Given the description of an element on the screen output the (x, y) to click on. 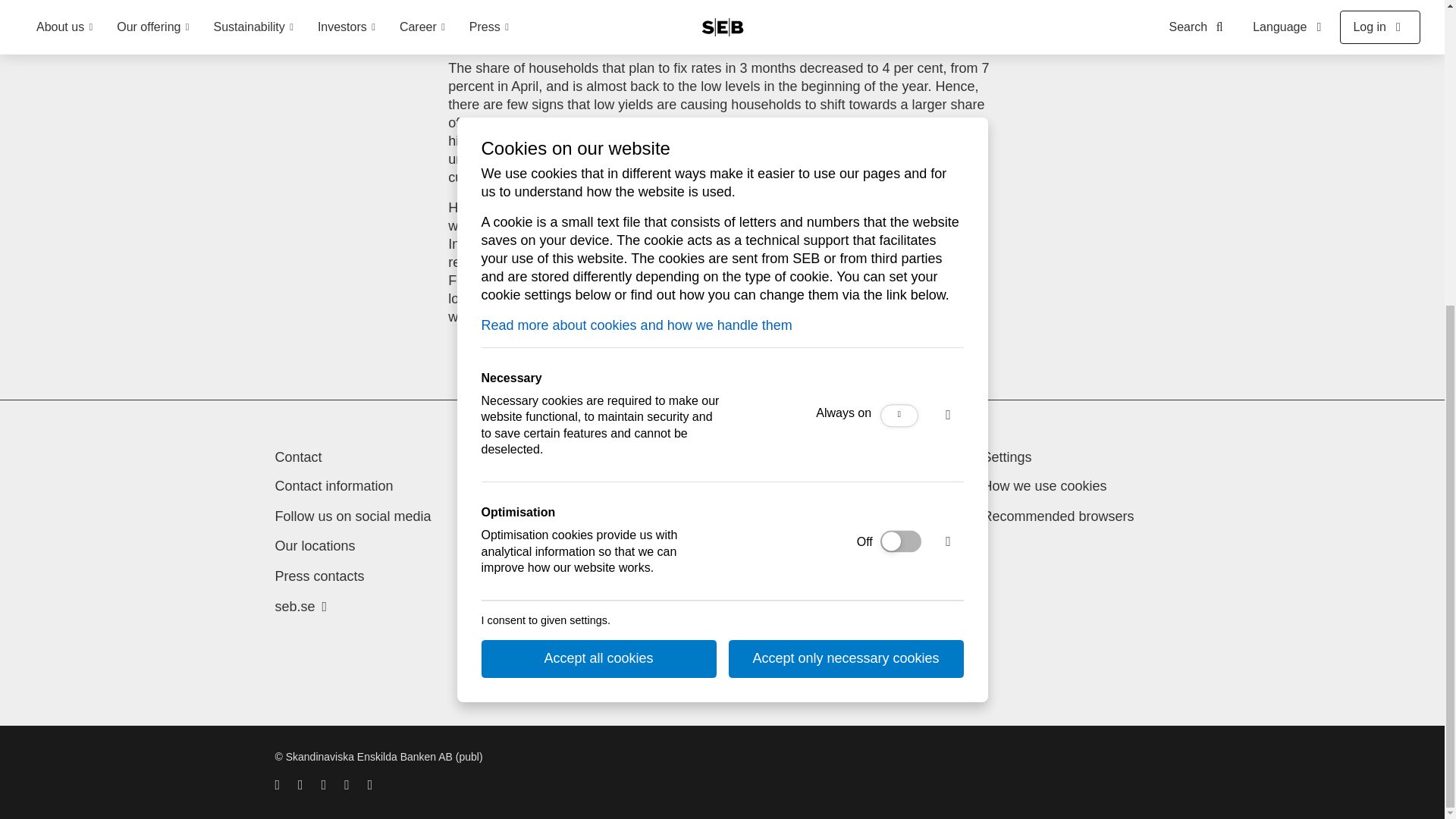
Financial calendar (566, 545)
Press contacts (319, 575)
seb.se (300, 606)
Authorisation (785, 533)
Follow us on social media (352, 515)
Events (532, 515)
Our locations (315, 545)
seb.se (300, 606)
Contact information (334, 485)
Contact information (334, 485)
Follow us on social media (352, 515)
Annual general meeting (583, 485)
Our locations (315, 545)
